Given the description of an element on the screen output the (x, y) to click on. 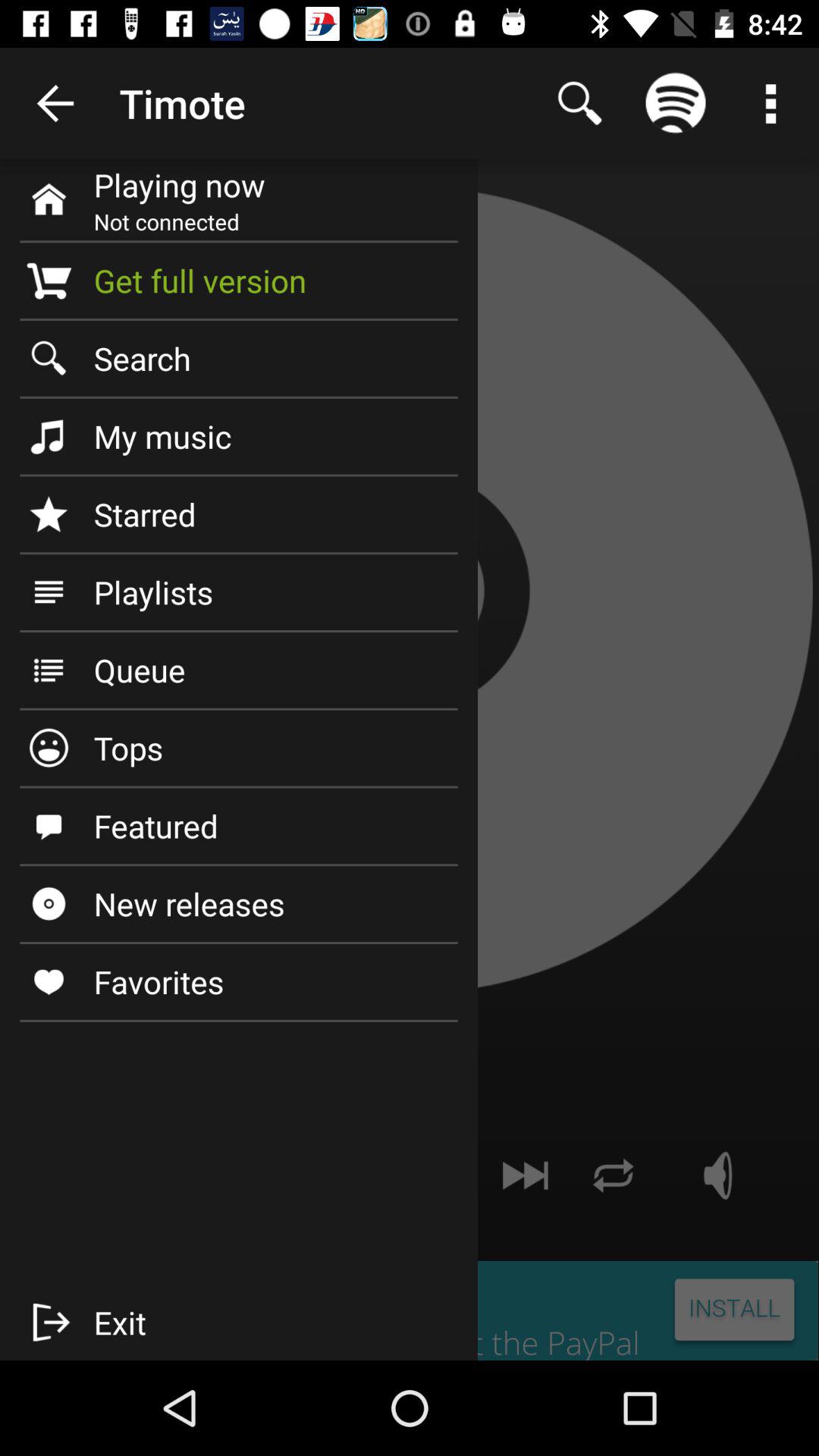
click on menu (771, 103)
